Given the description of an element on the screen output the (x, y) to click on. 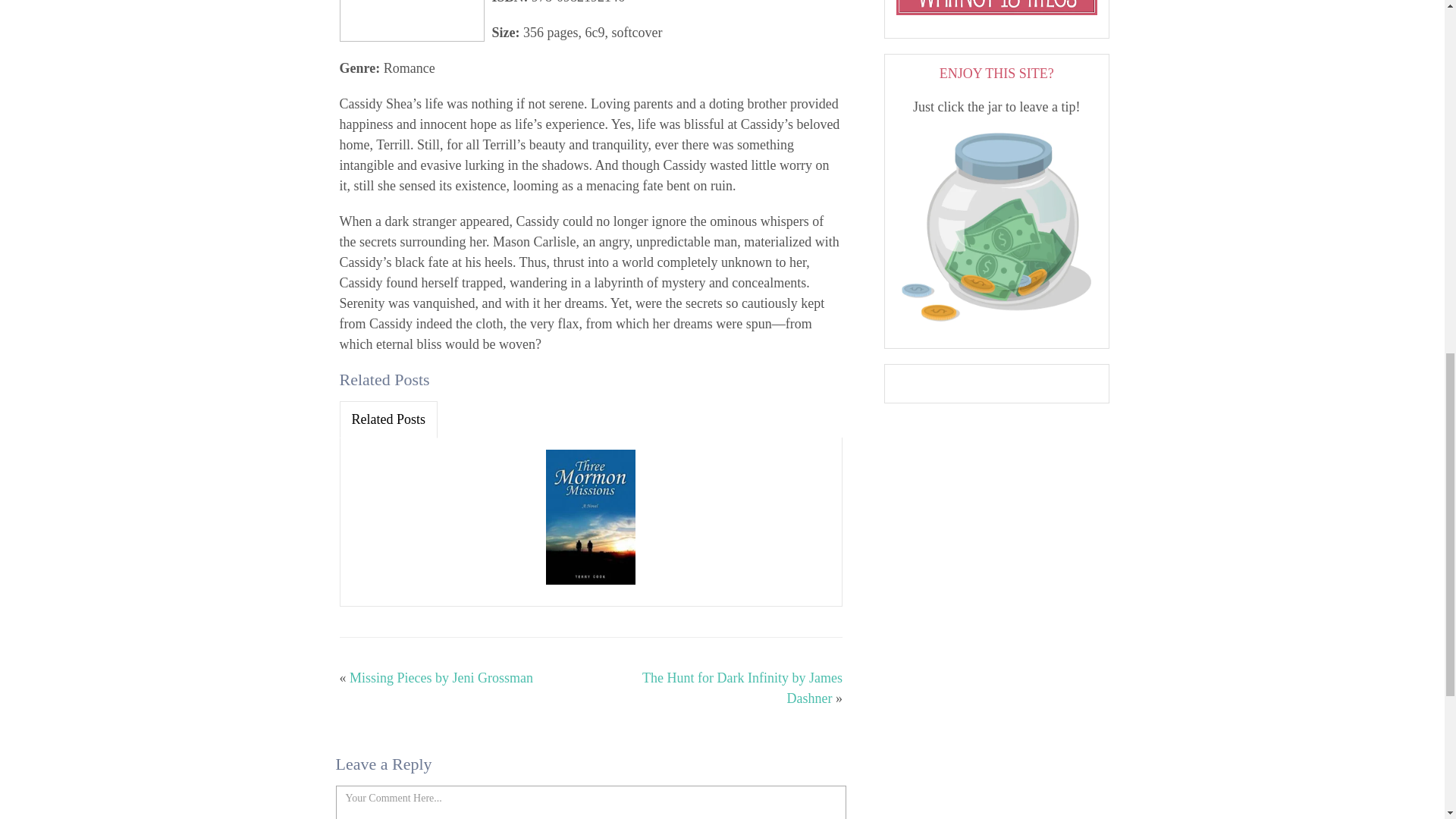
Missing Pieces by Jeni Grossman (440, 677)
Related Posts (387, 419)
The Hunt for Dark Infinity by James Dashner (742, 687)
